Given the description of an element on the screen output the (x, y) to click on. 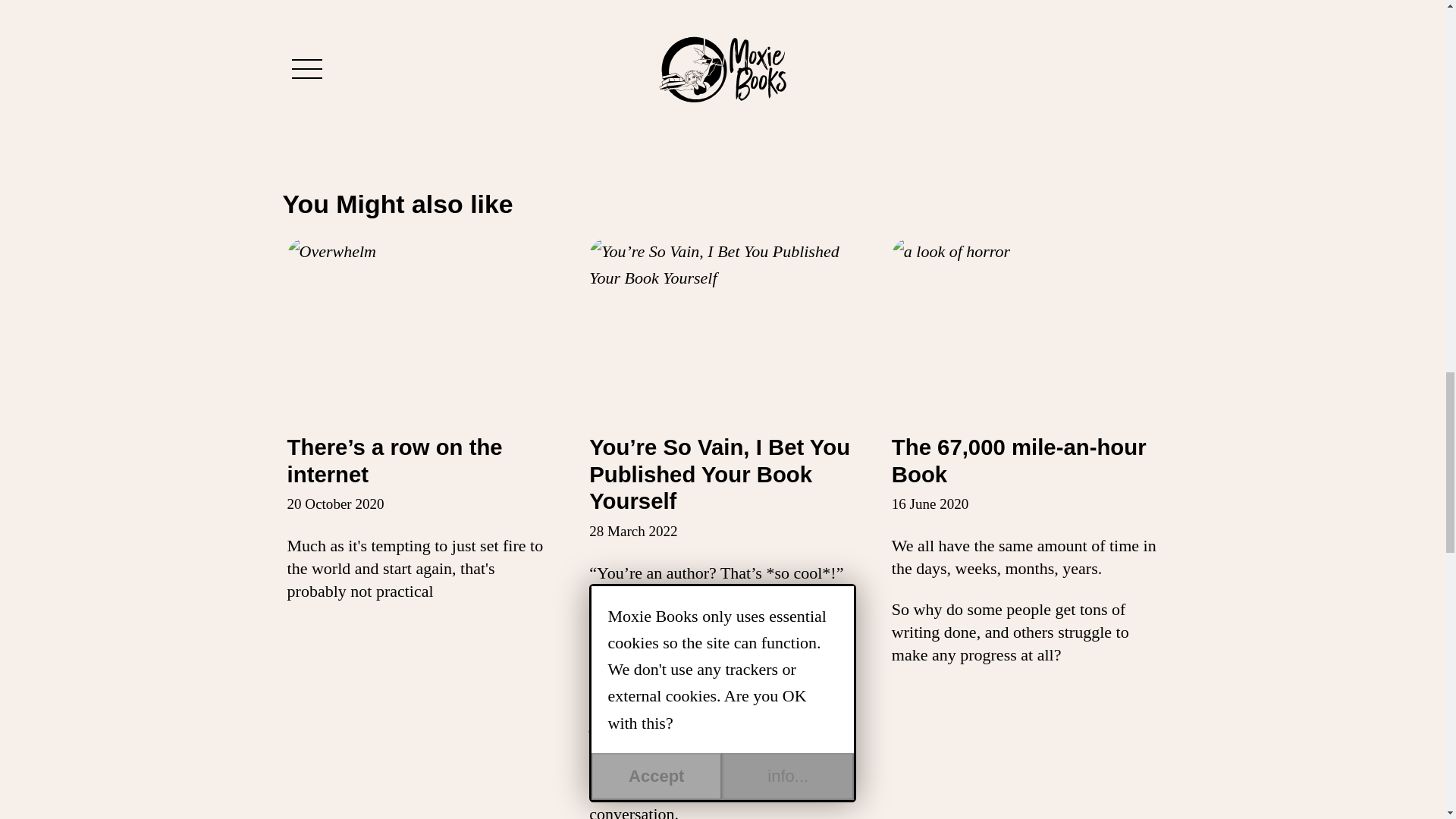
Next Post (1057, 34)
The 67,000 mile-an-hour Book (1019, 460)
Previous Post (386, 34)
